Given the description of an element on the screen output the (x, y) to click on. 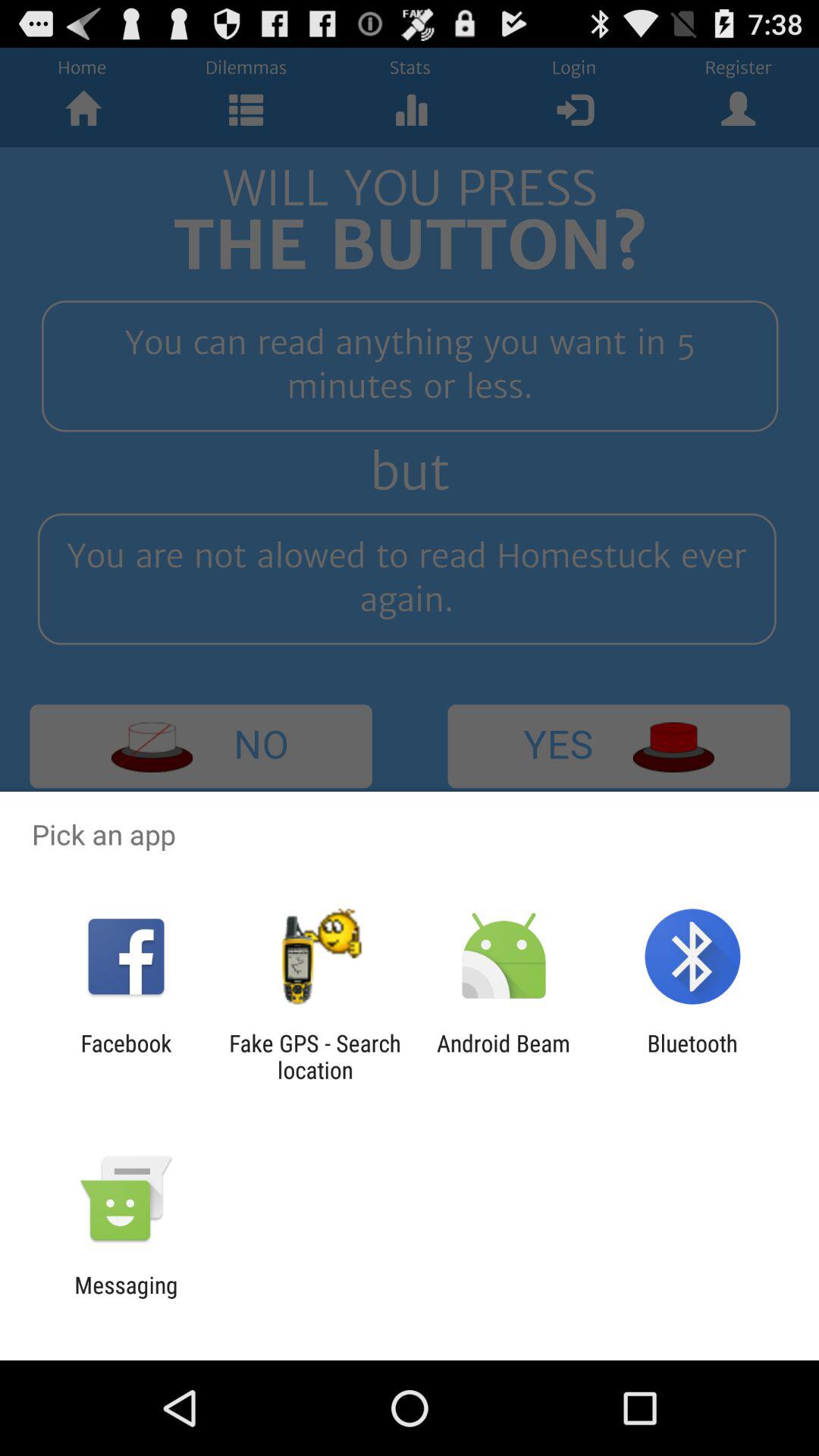
press icon to the right of the facebook item (314, 1056)
